Given the description of an element on the screen output the (x, y) to click on. 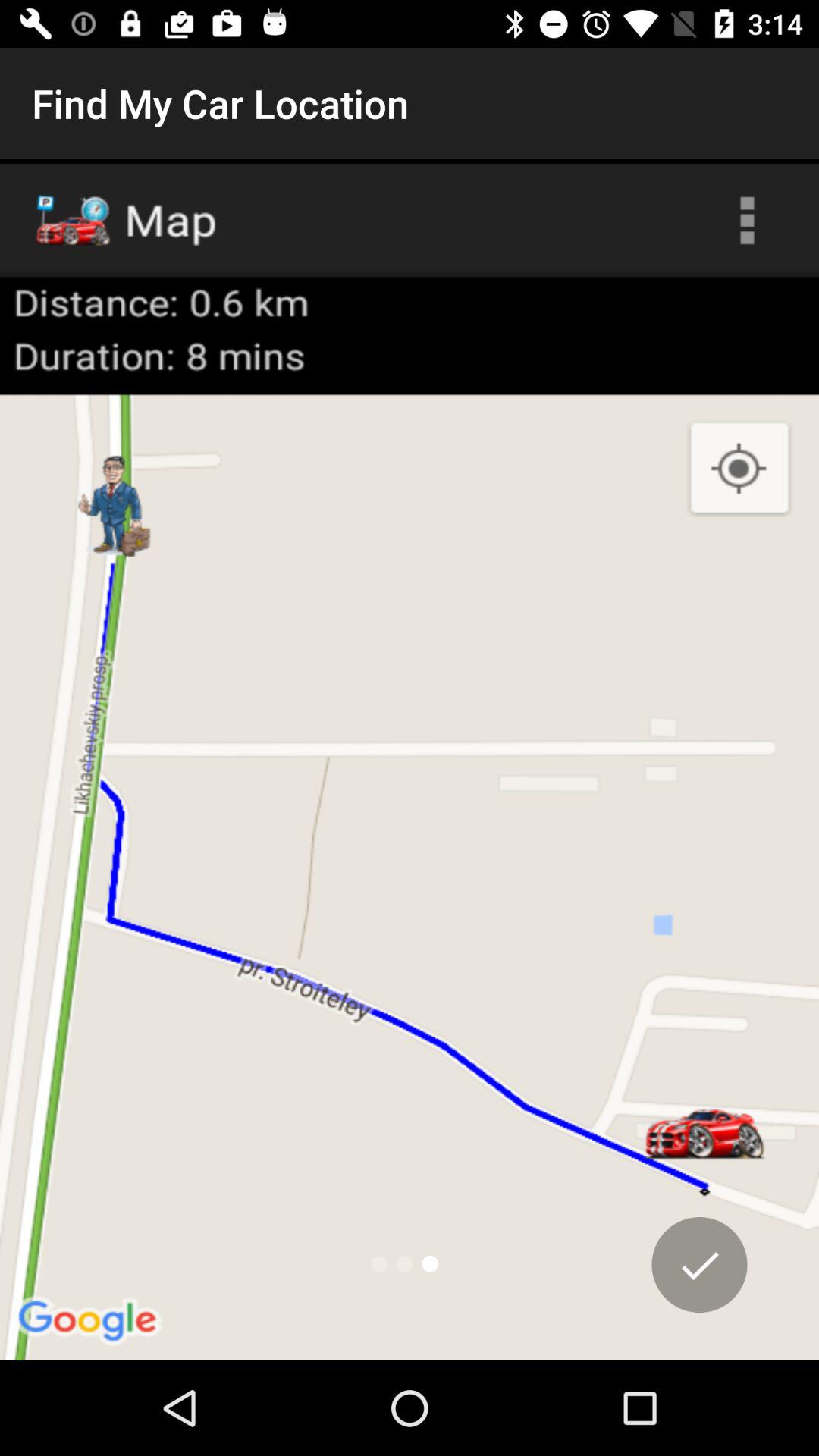
ok (699, 1264)
